Given the description of an element on the screen output the (x, y) to click on. 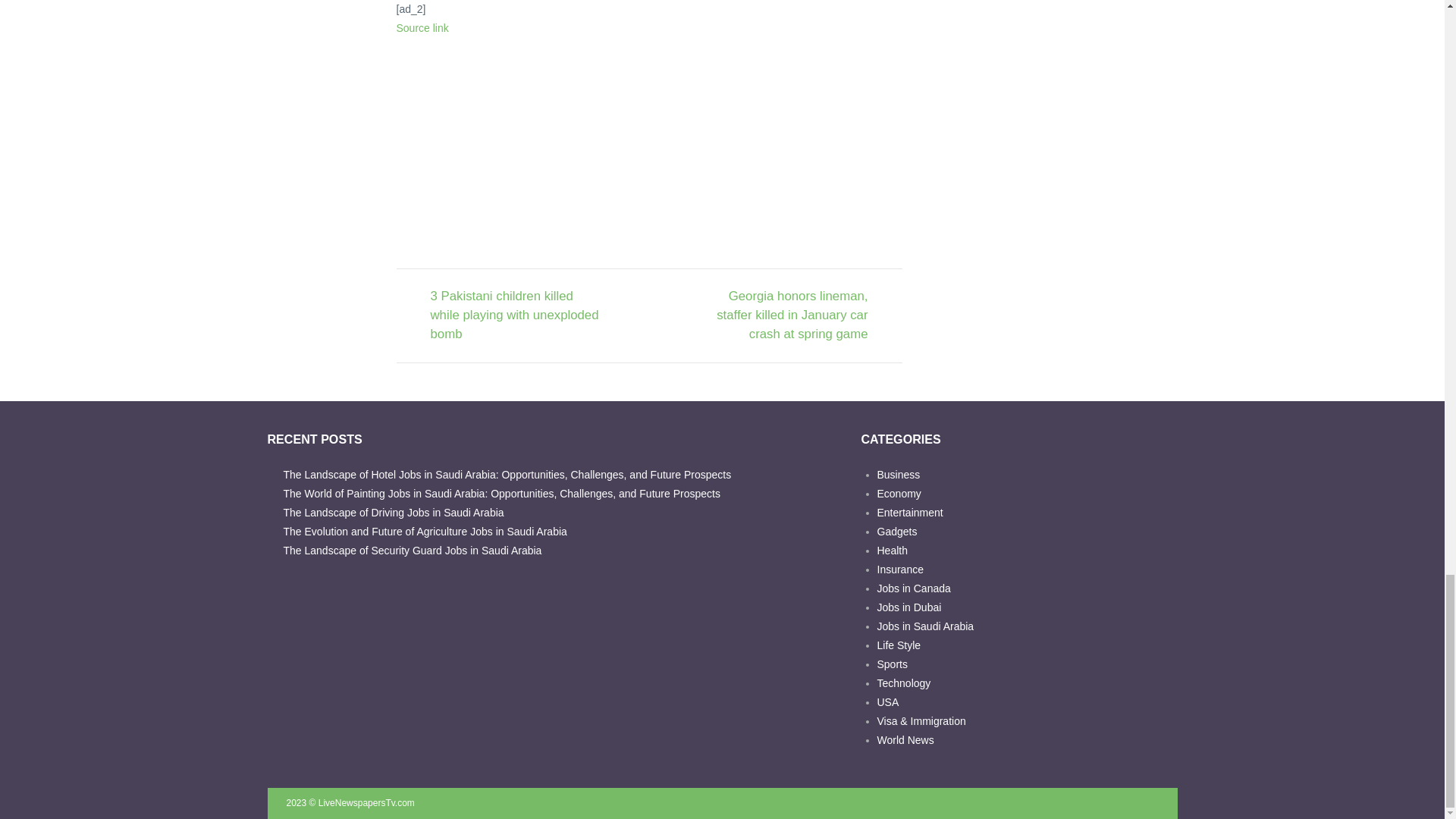
Next (780, 315)
Previous (517, 315)
Source link (422, 28)
